Given the description of an element on the screen output the (x, y) to click on. 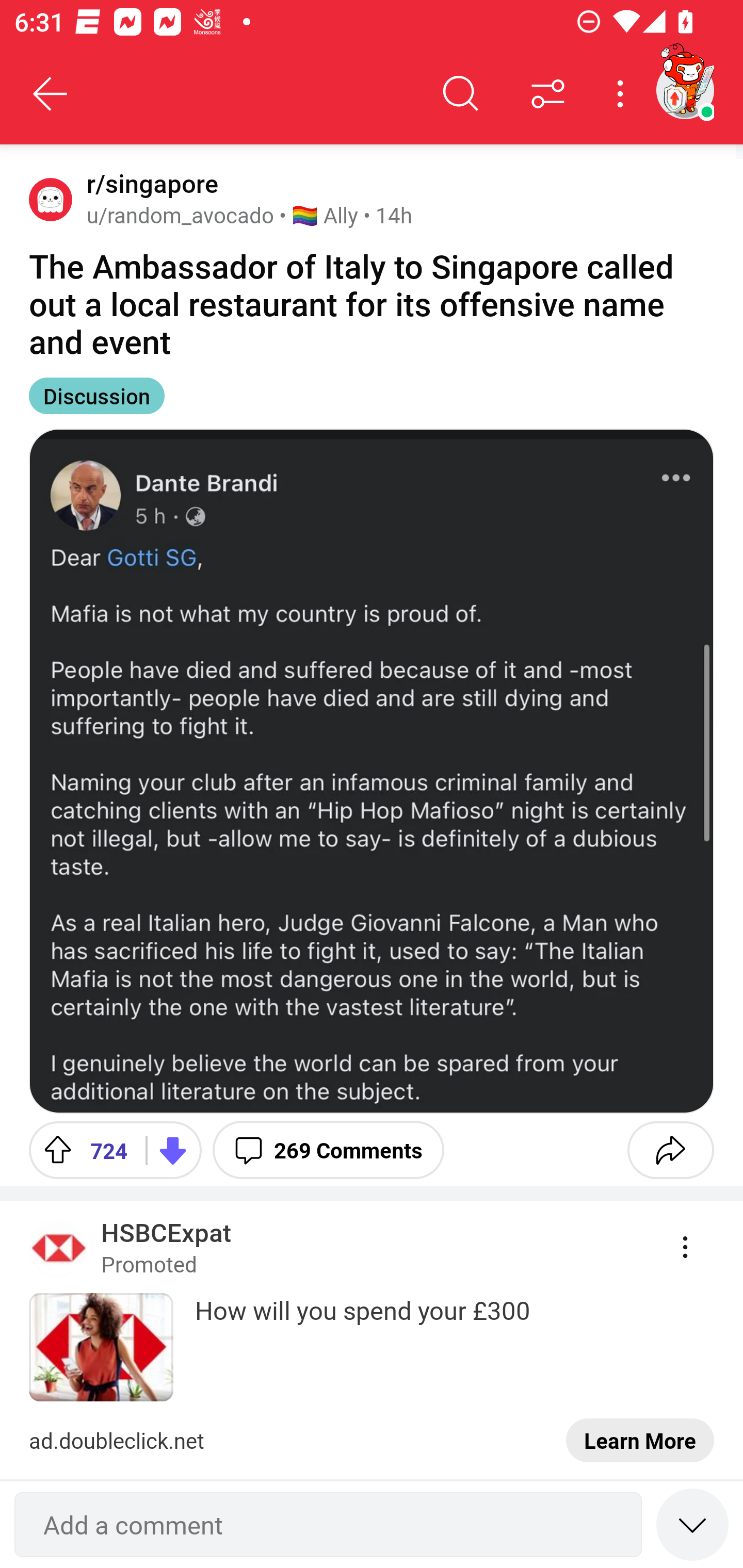
Back (50, 93)
TestAppium002 account (685, 90)
Search comments (460, 93)
Sort comments (547, 93)
More options (623, 93)
r/singapore (148, 183)
Avatar (50, 199)
Discussion (96, 395)
1 of 2, Image (371, 770)
Upvote 724 (79, 1149)
269 Comments (328, 1149)
Share (670, 1149)
Speed read (692, 1524)
Add a comment (327, 1524)
